Given the description of an element on the screen output the (x, y) to click on. 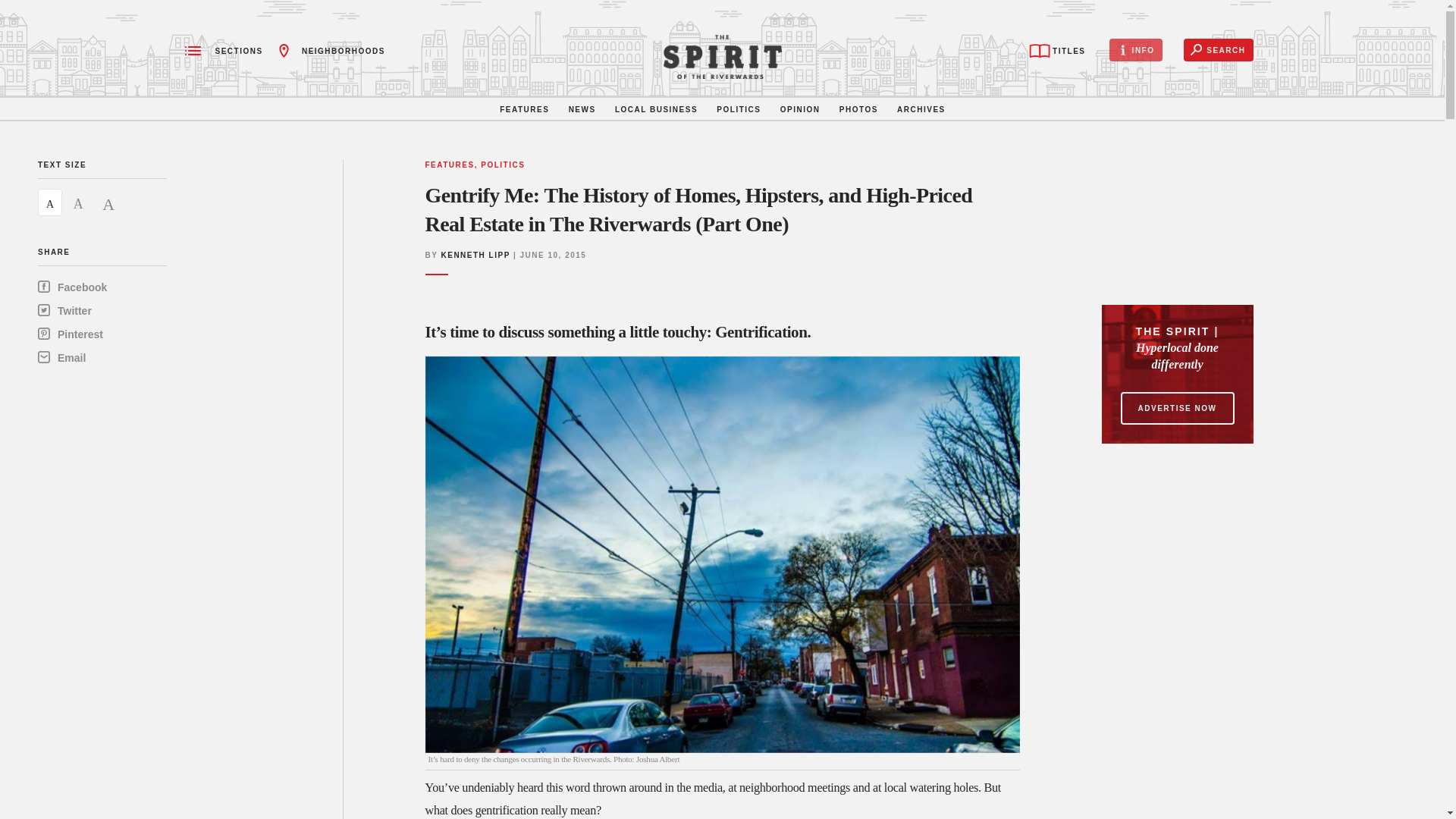
NEWS (581, 108)
LOCAL BUSINESS (655, 108)
PHOTOS (858, 108)
FEATURES (524, 108)
OPINION (800, 108)
POLITICS (738, 108)
INFO (1135, 49)
ARCHIVES (920, 108)
Spirit News (722, 55)
